Given the description of an element on the screen output the (x, y) to click on. 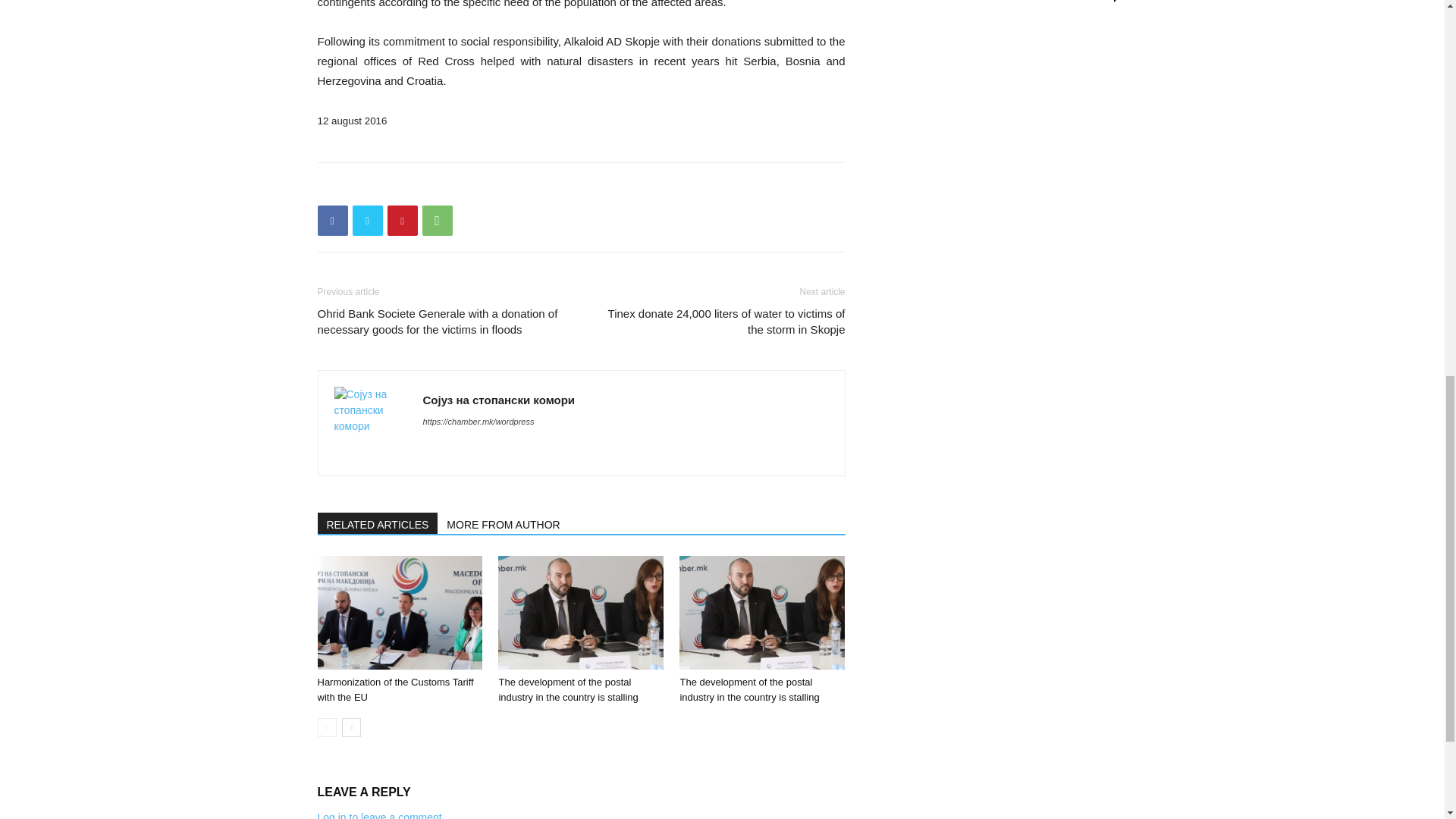
Facebook (332, 220)
bottomFacebookLike (430, 186)
Twitter (366, 220)
WhatsApp (436, 220)
Pinterest (401, 220)
